Given the description of an element on the screen output the (x, y) to click on. 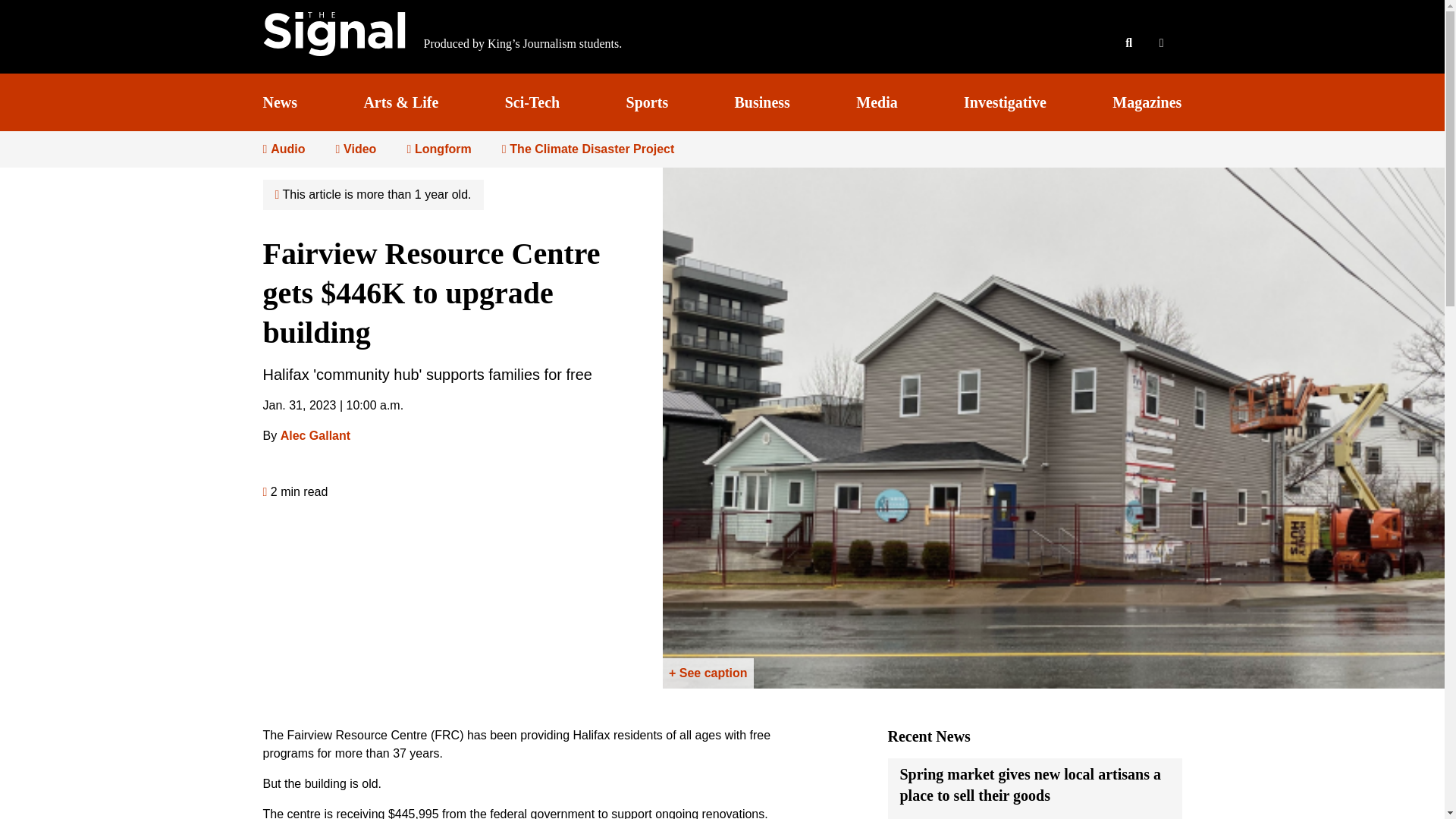
Business (762, 102)
Alec Gallant (315, 435)
News (279, 102)
Media (876, 102)
Longform (438, 148)
Sci-Tech (532, 102)
Video (354, 148)
Sports (647, 102)
Audio (283, 148)
Magazines (1146, 102)
Investigative (1004, 102)
The Climate Disaster Project (588, 148)
